Given the description of an element on the screen output the (x, y) to click on. 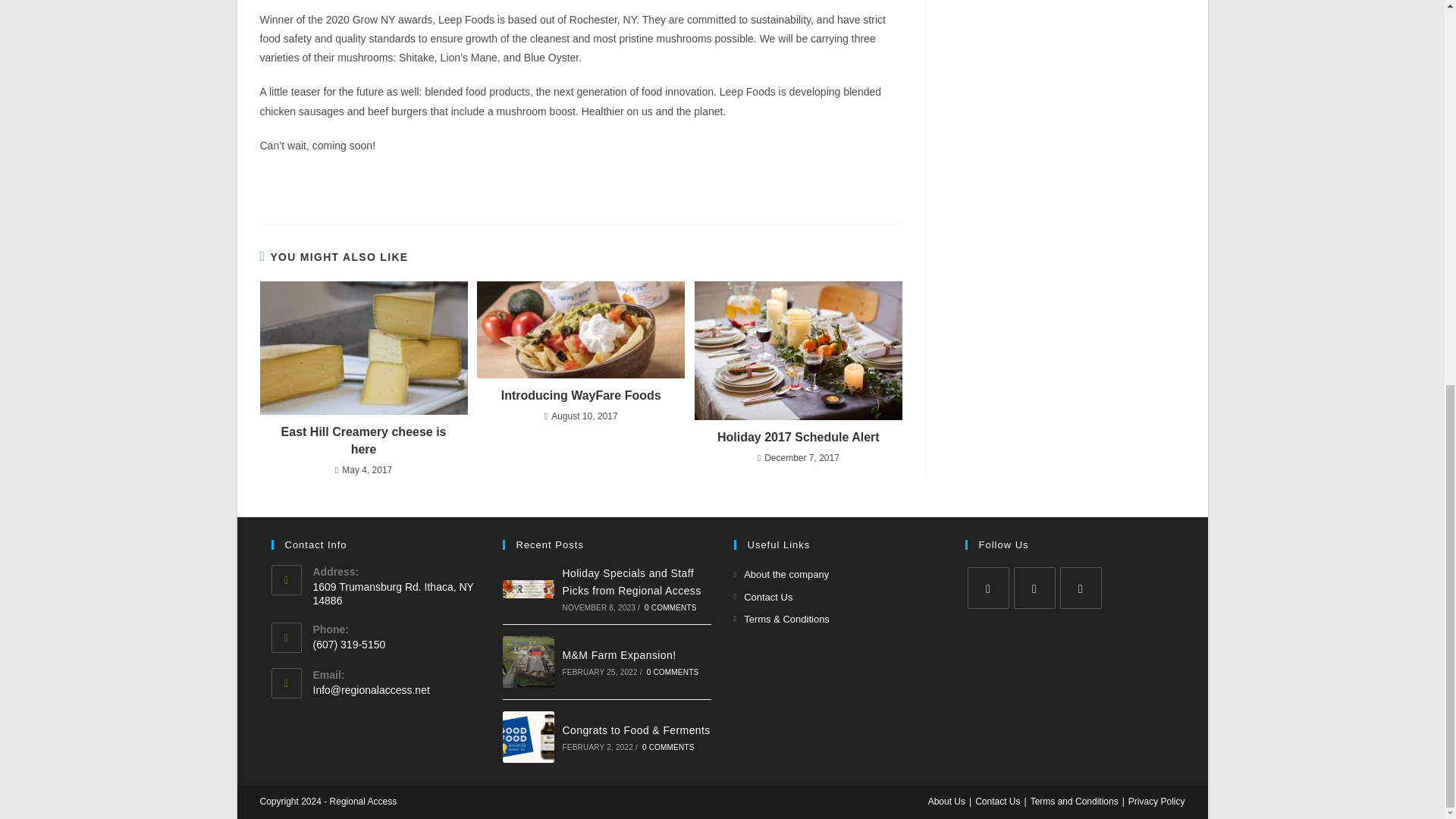
Holiday Specials and Staff Picks from Regional Access (527, 588)
